Given the description of an element on the screen output the (x, y) to click on. 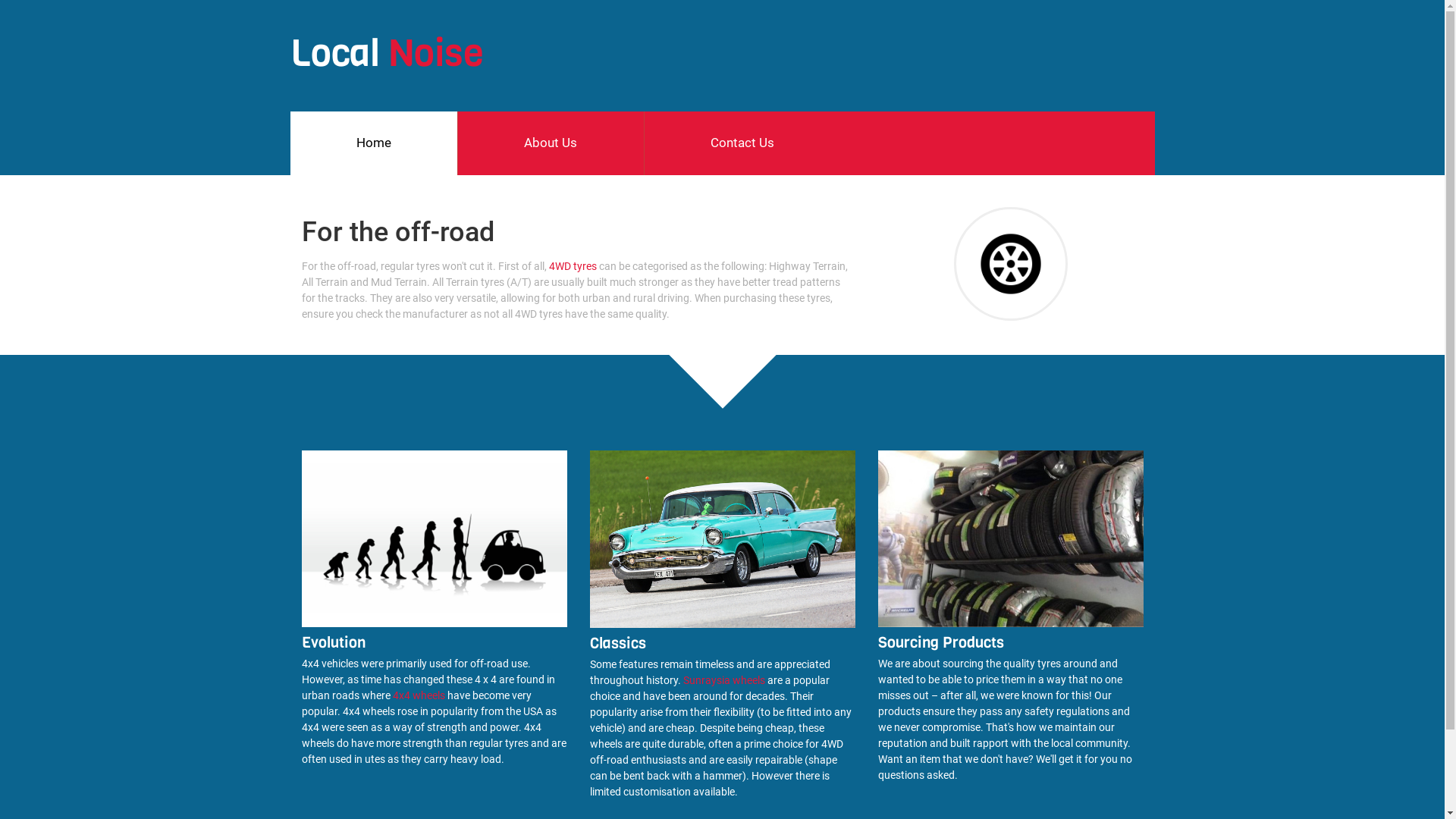
Contact Us Element type: text (741, 143)
4WD tyres Element type: text (572, 266)
Local Noise Element type: text (386, 53)
About Us Element type: text (550, 143)
Home Element type: text (373, 143)
Sunraysia wheels Element type: text (723, 680)
4x4 wheels Element type: text (418, 695)
